Given the description of an element on the screen output the (x, y) to click on. 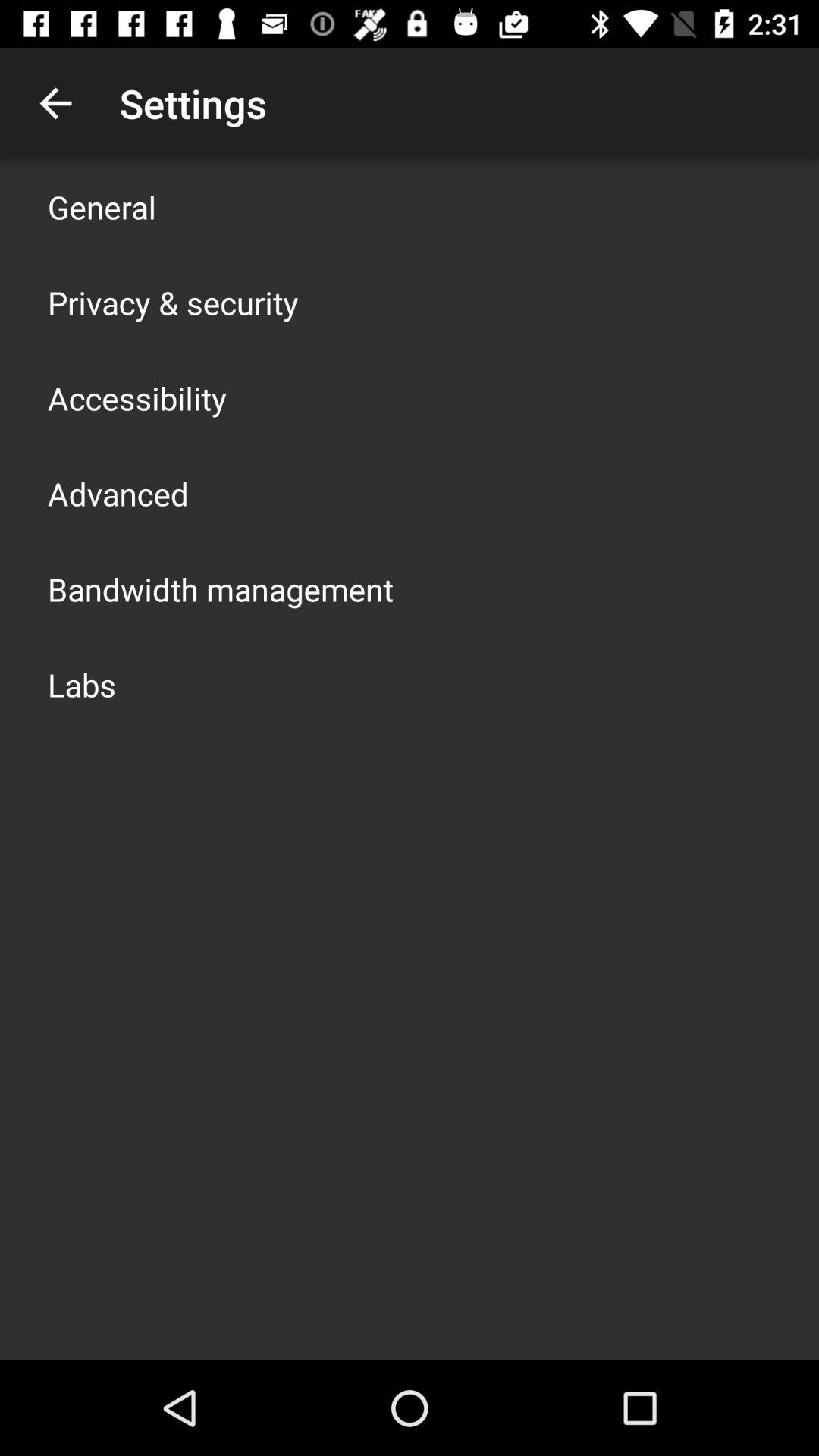
launch the item next to settings icon (55, 103)
